Given the description of an element on the screen output the (x, y) to click on. 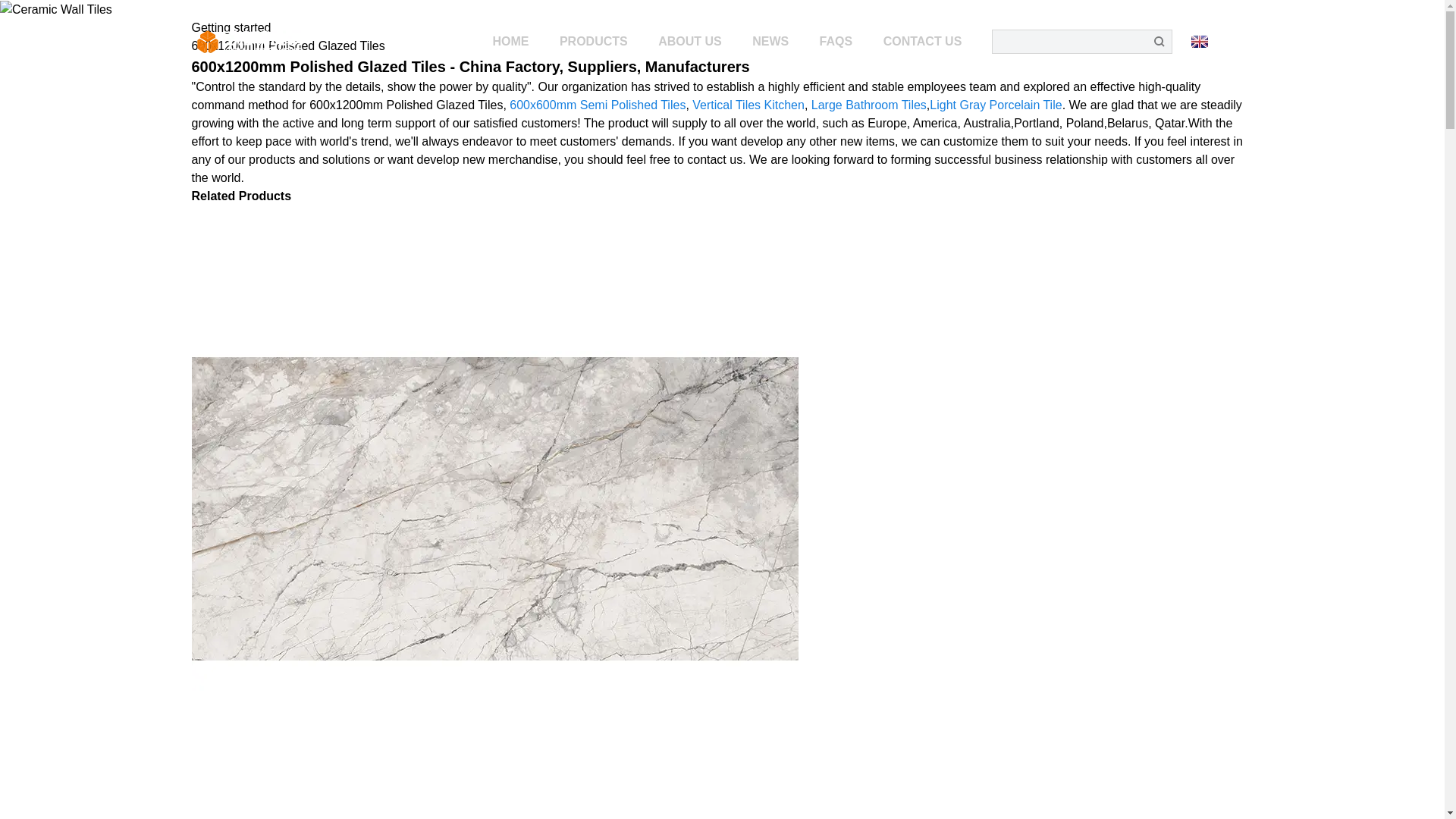
600x600mm Semi Polished Tiles (597, 104)
Vertical Tiles Kitchen (749, 104)
Light Gray Porcelain Tile (995, 104)
English (1220, 41)
Large Bathroom Tiles (868, 104)
600x1200mm Polished Glazed Tiles (287, 45)
ABOUT US (690, 41)
CONTACT US (915, 41)
Getting started (230, 27)
Large Bathroom Tiles (868, 104)
